Given the description of an element on the screen output the (x, y) to click on. 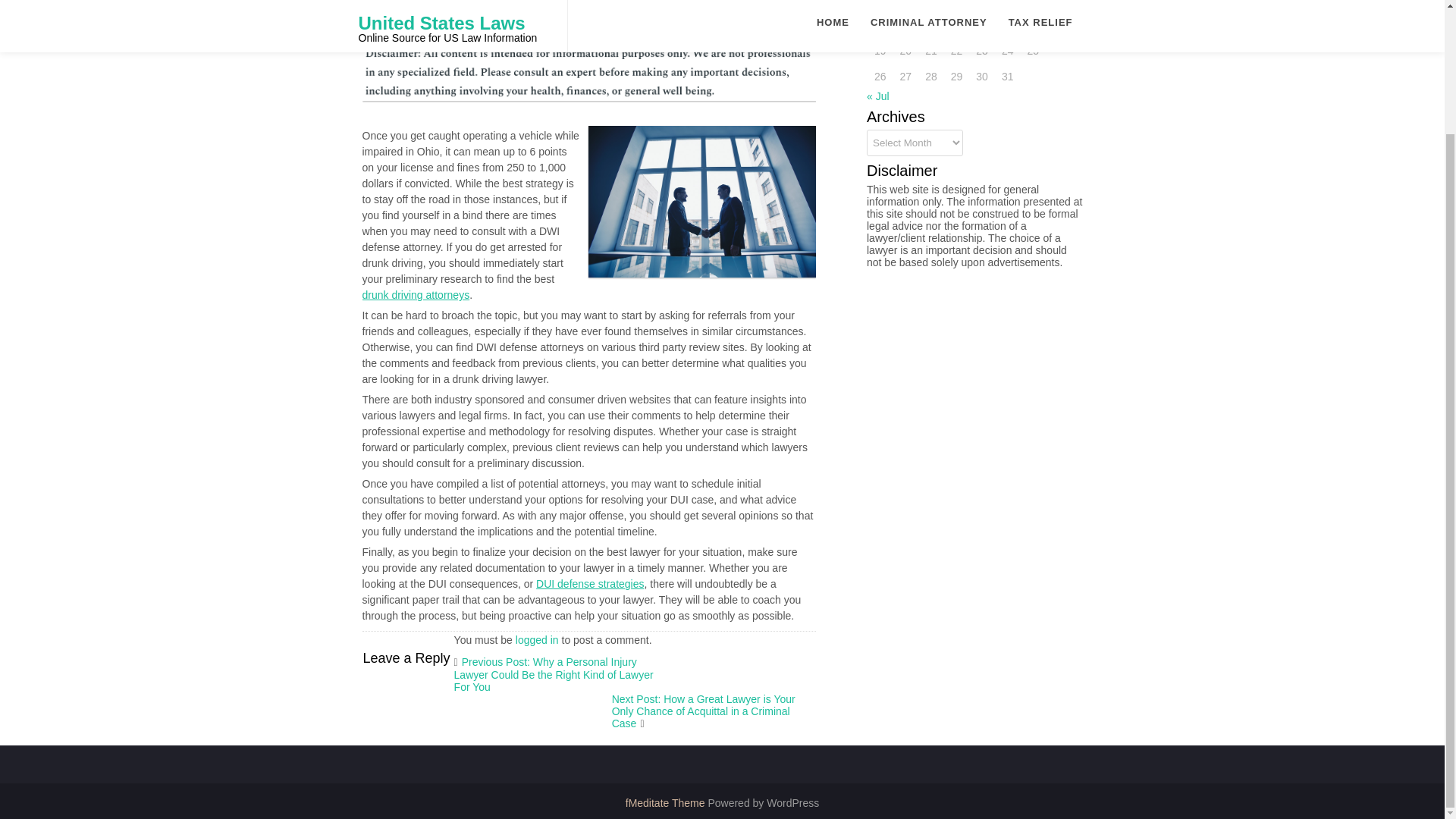
logged in (537, 639)
Try this (487, 295)
Get more about Dui criminal defense lawyer (631, 583)
fMeditate Theme (666, 802)
fMeditate Theme (666, 802)
